Given the description of an element on the screen output the (x, y) to click on. 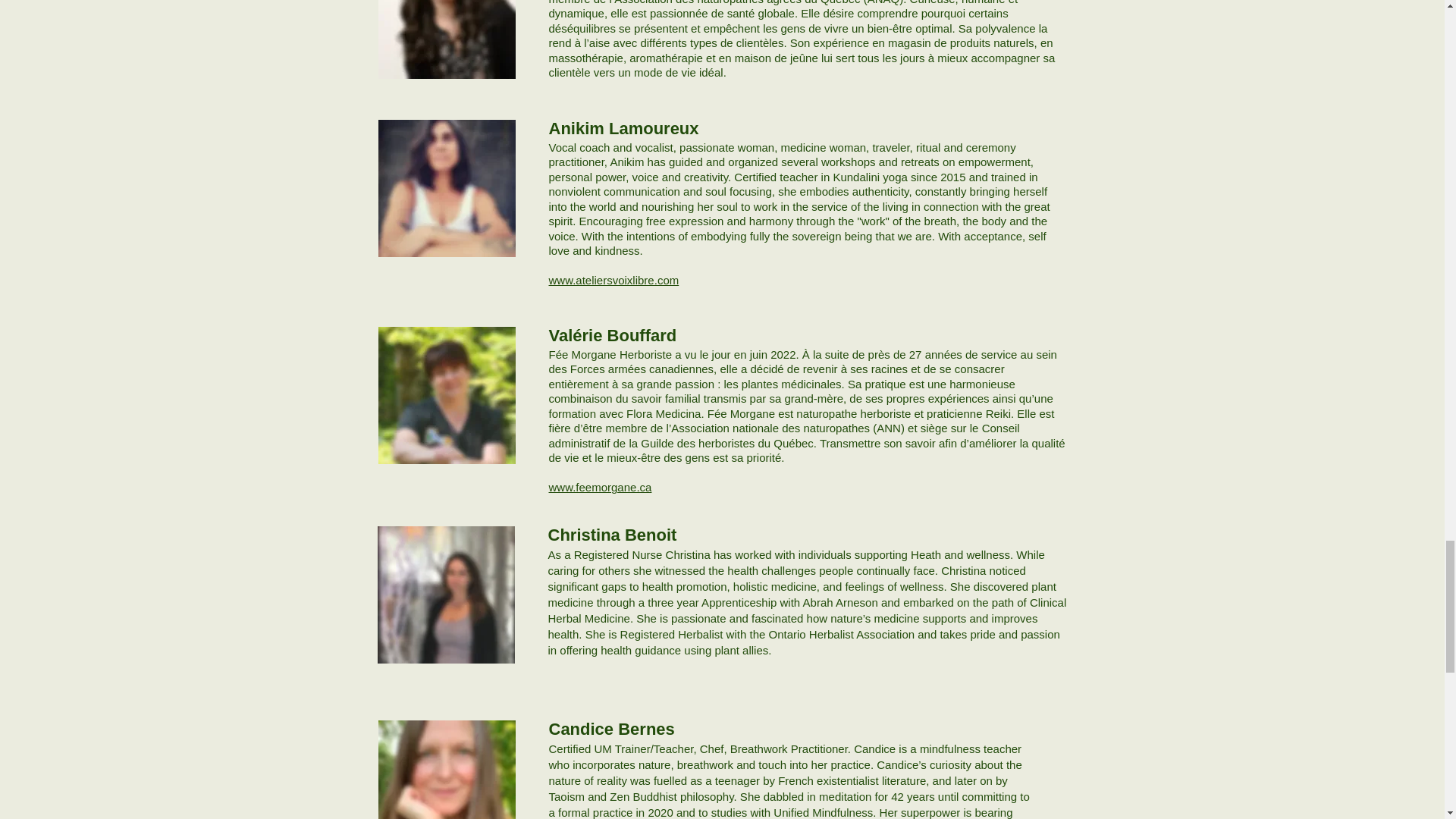
www.feemorgane.ca (600, 486)
Abrah-portrait-2.jpeg (446, 395)
Abrah-portrait-2.jpeg (446, 594)
Abrah-portrait-2.jpeg (446, 39)
Abrah-portrait-2.jpeg (446, 188)
Abrah-portrait-2.jpeg (446, 769)
www.ateliersvoixlibre.com (613, 279)
